Given the description of an element on the screen output the (x, y) to click on. 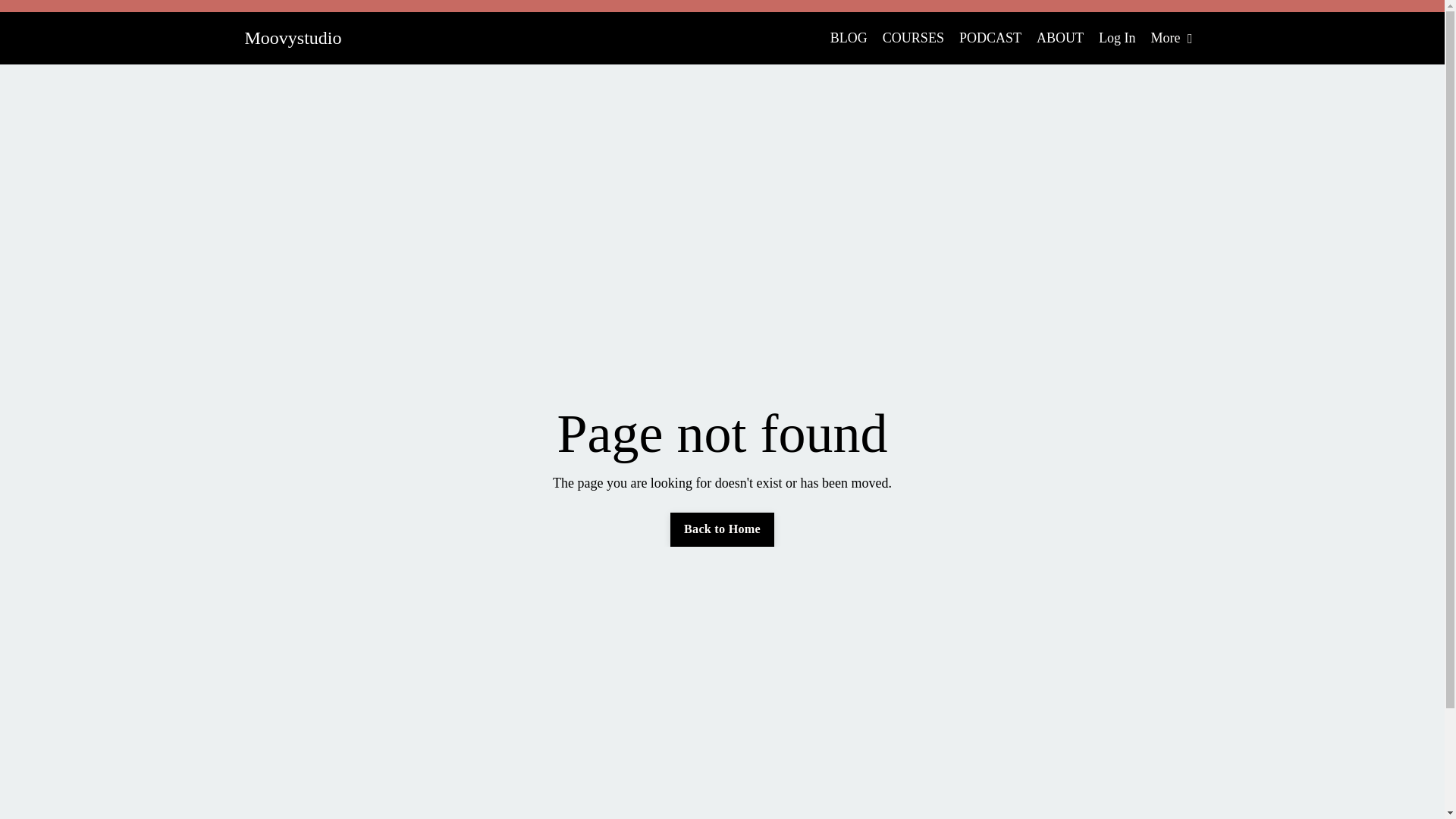
BLOG (848, 38)
Back to Home (721, 529)
Moovystudio (292, 37)
PODCAST (990, 38)
COURSES (912, 38)
Log In (1117, 37)
ABOUT (1059, 38)
More (1171, 38)
